Given the description of an element on the screen output the (x, y) to click on. 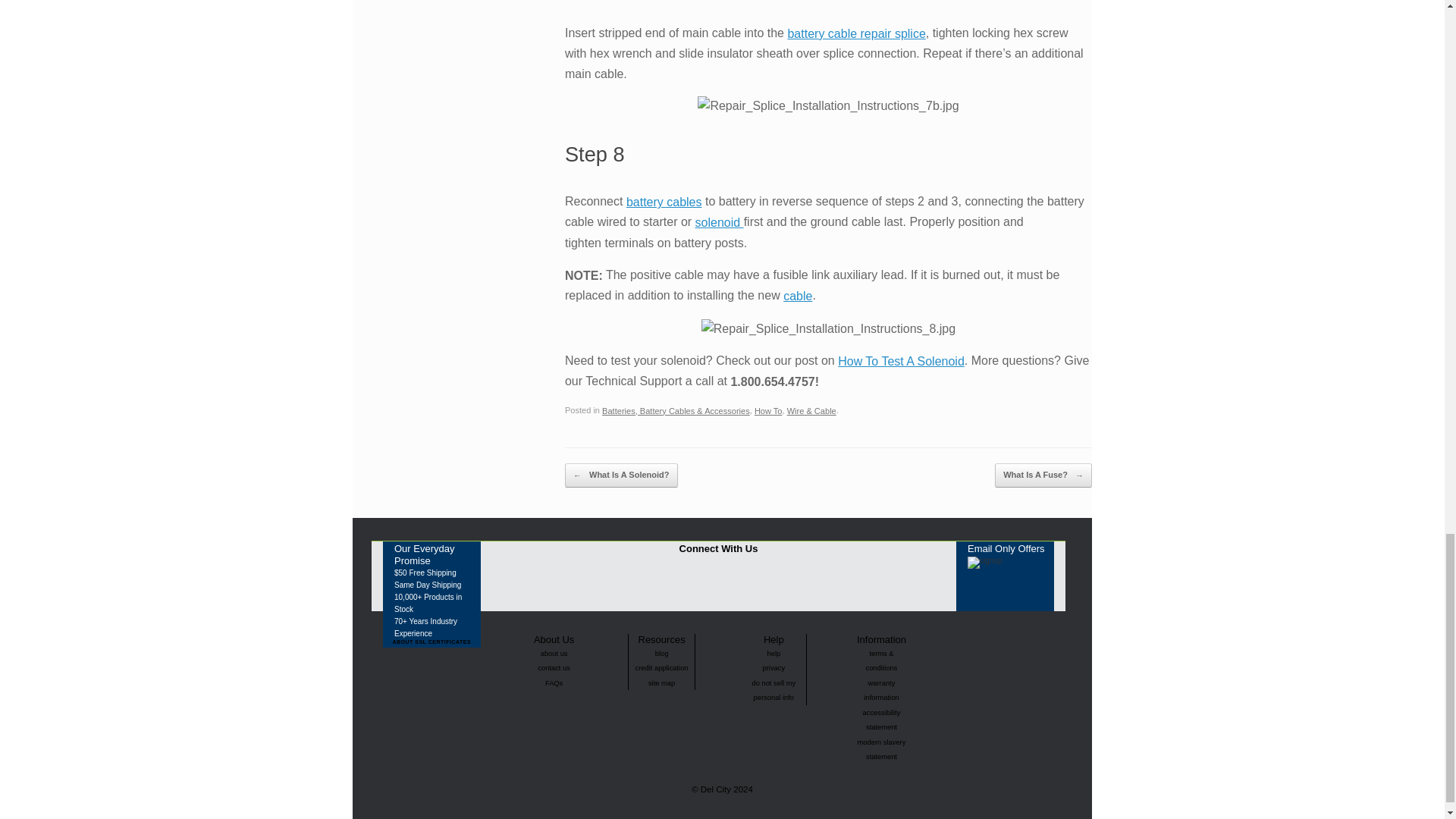
How To Test A Solenoid (900, 360)
cable (797, 295)
How To (768, 410)
battery cable repair splice (855, 33)
solenoid (719, 222)
battery cables (663, 201)
